Given the description of an element on the screen output the (x, y) to click on. 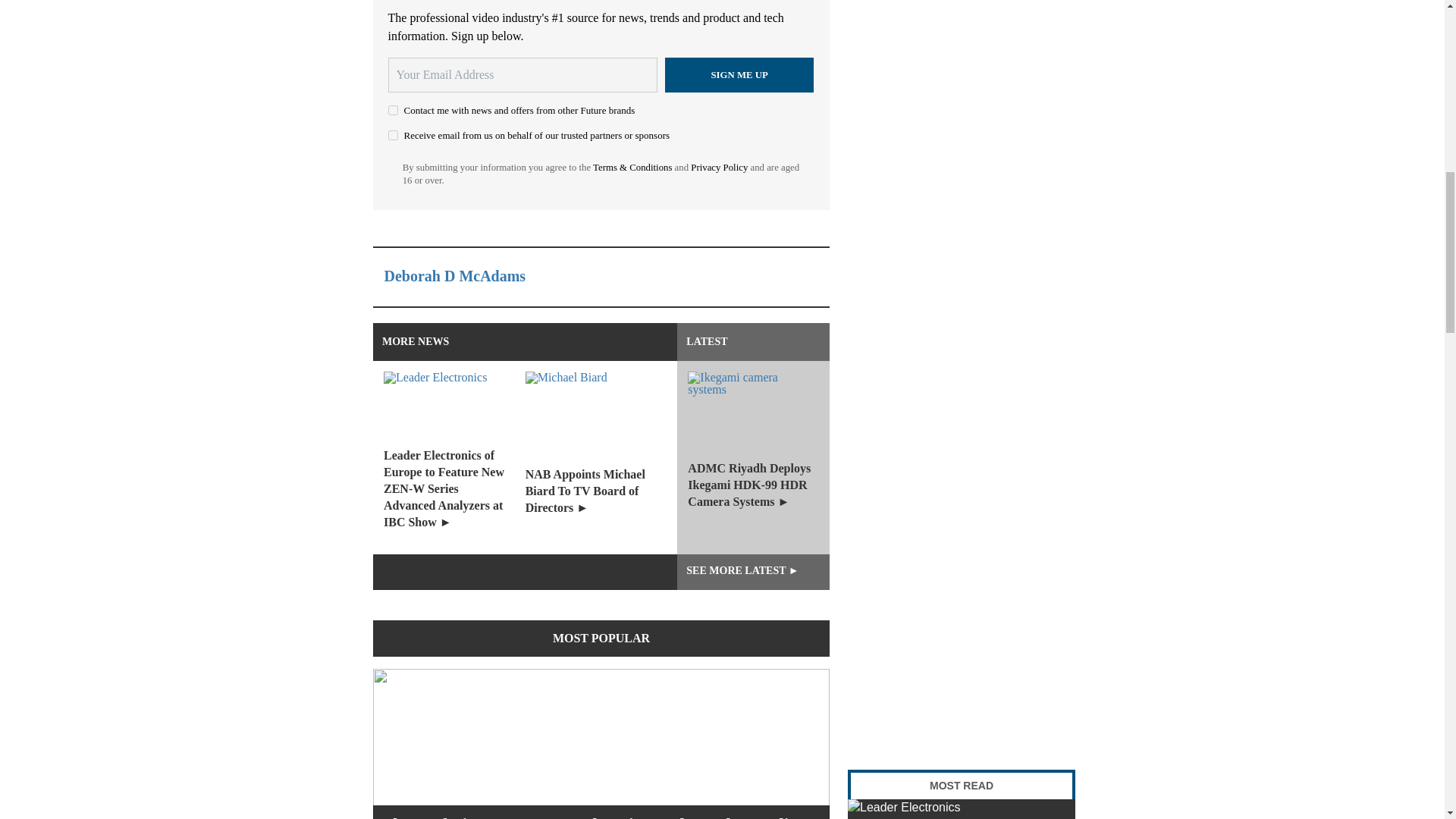
Sign me up (739, 74)
Sign me up (739, 74)
Privacy Policy (719, 167)
Deborah D McAdams (454, 275)
